Given the description of an element on the screen output the (x, y) to click on. 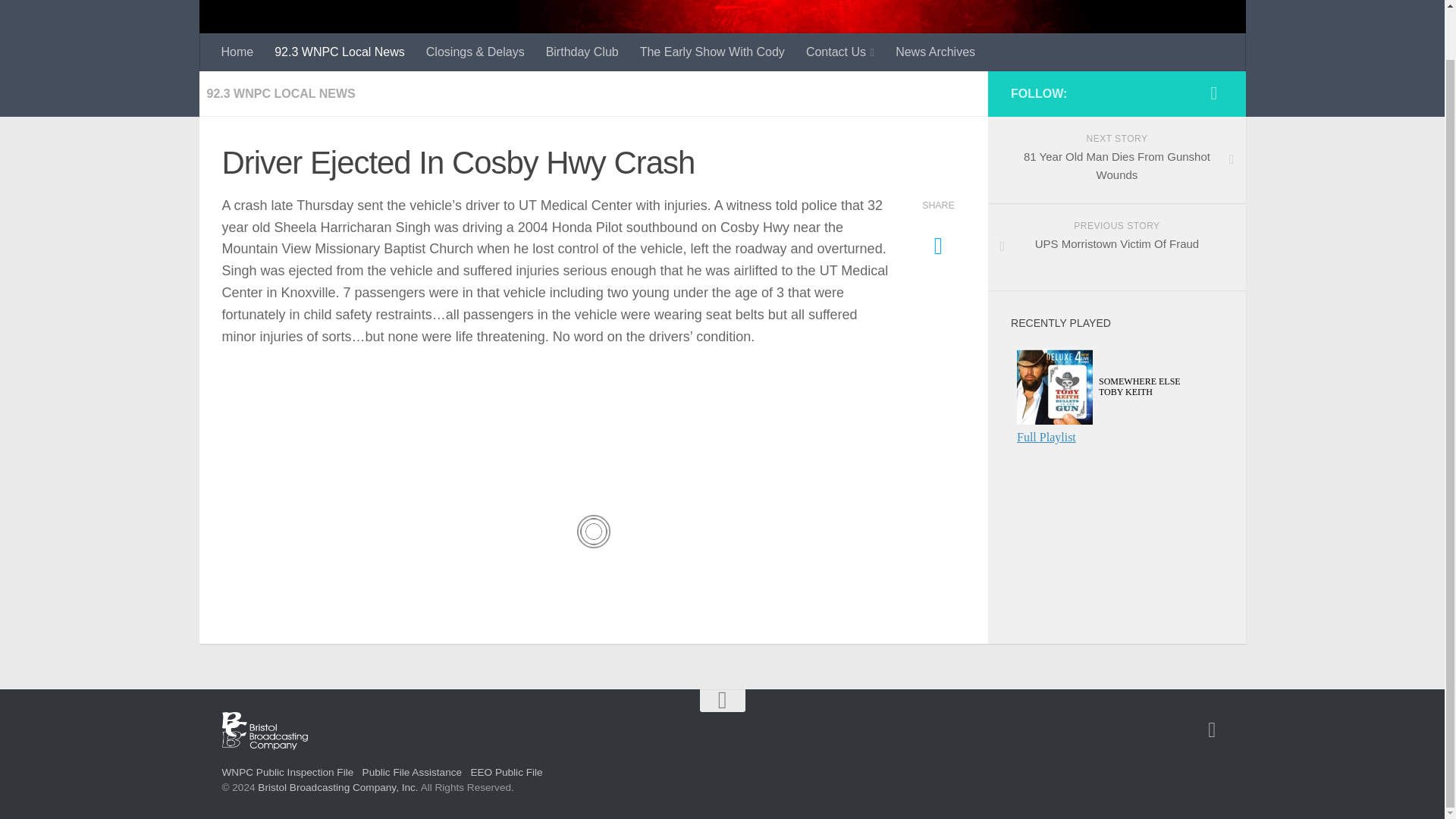
Birthday Club (581, 52)
WNPC Public Inspection File (287, 772)
EEO Public File (505, 772)
Contact Us (839, 52)
92.3 WNPC Local News (338, 52)
92.3 WNPC LOCAL NEWS (280, 92)
Bristol Broadcasting Company, Inc. (1115, 160)
Follow us on Facebook (337, 787)
The Early Show With Cody (1212, 730)
Follow us on Facebook (1115, 247)
Public File Assistance (711, 52)
Home (1213, 93)
News Archives (411, 772)
